Given the description of an element on the screen output the (x, y) to click on. 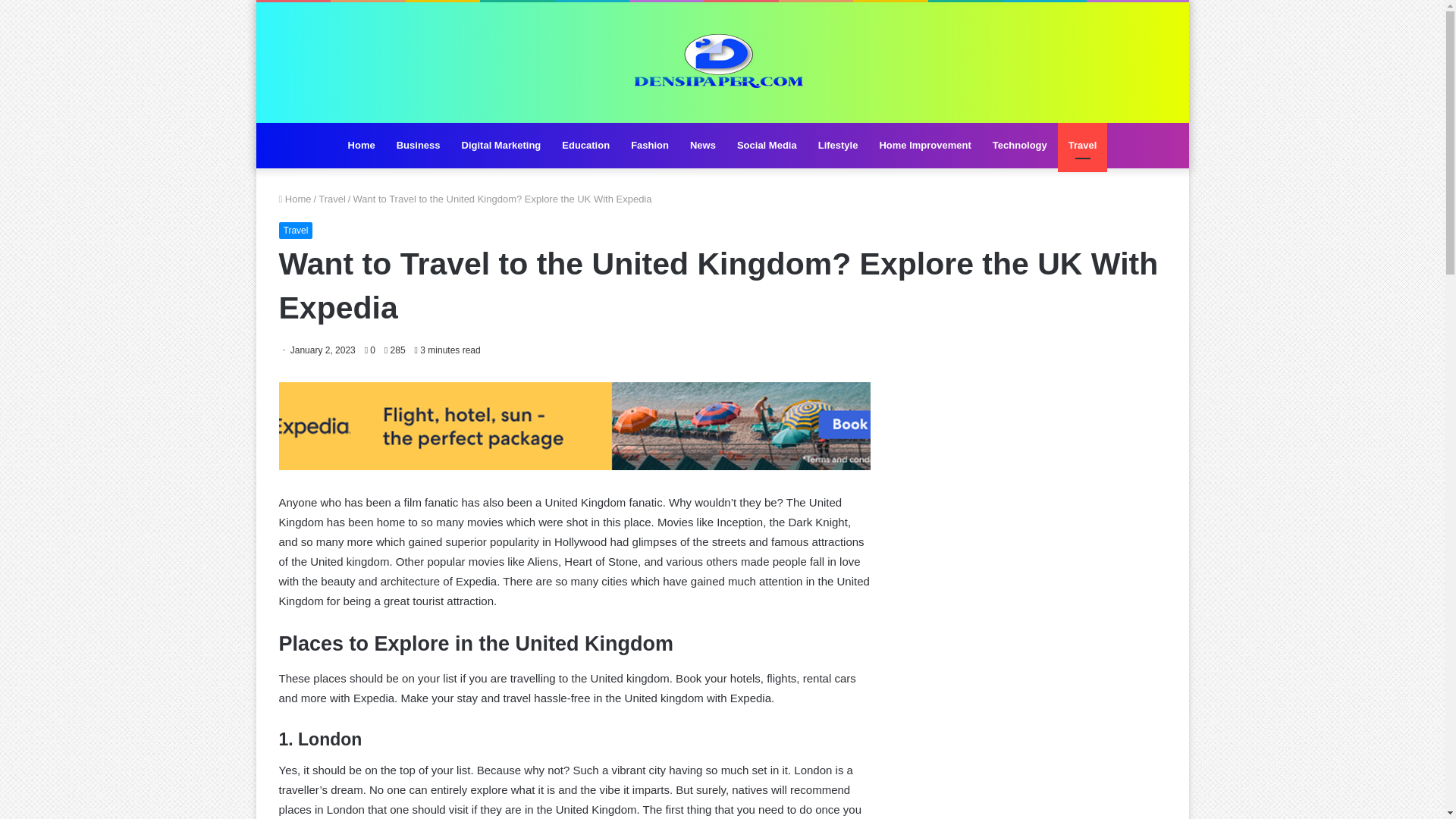
Travel (1083, 145)
Digital Marketing (501, 145)
News (702, 145)
Lifestyle (838, 145)
Home Improvement (924, 145)
Home (361, 145)
Education (585, 145)
Fashion (649, 145)
Business (418, 145)
Travel (332, 198)
Technology (1019, 145)
Home (295, 198)
Travel (296, 230)
Densipaper (721, 62)
Social Media (767, 145)
